Given the description of an element on the screen output the (x, y) to click on. 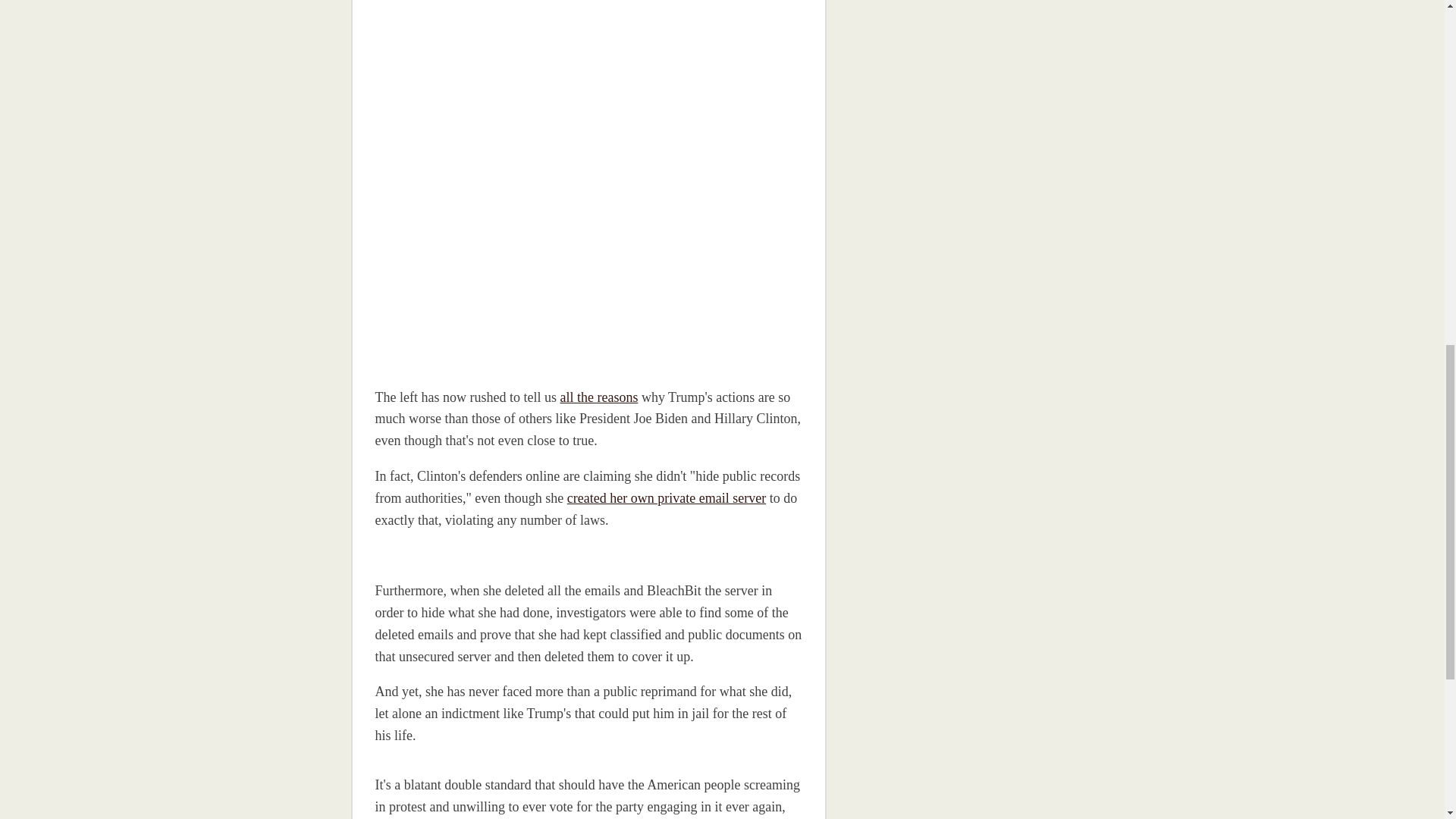
all the reasons (598, 396)
created her own private email server (666, 498)
